Given the description of an element on the screen output the (x, y) to click on. 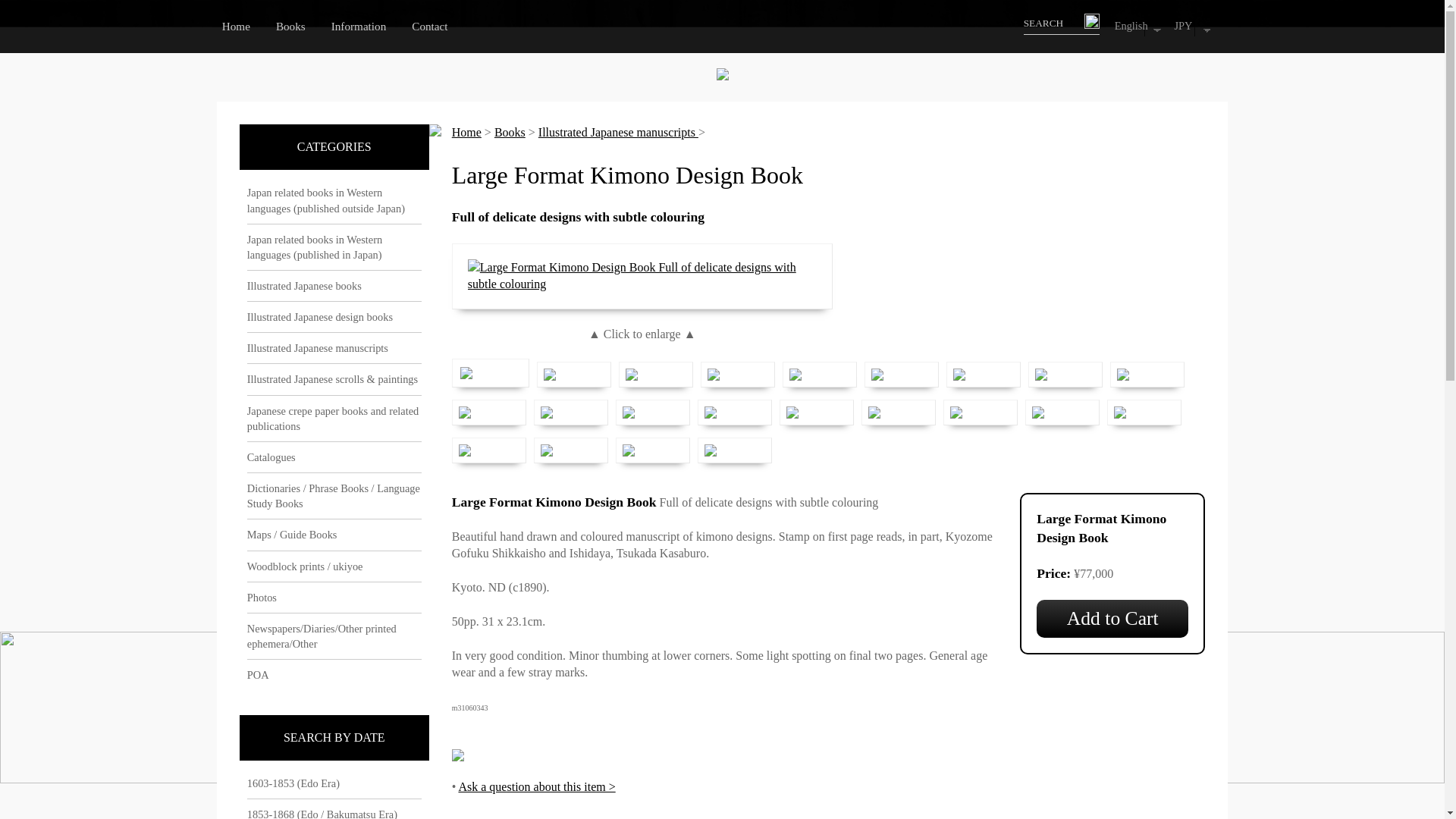
Illustrated Japanese manuscripts (334, 347)
Home (247, 25)
Information (370, 25)
Books (302, 25)
Illustrated Japanese design books (334, 316)
Japanese crepe paper books and related publications (334, 417)
Illustrated Japanese books (334, 285)
Add to Cart (1112, 618)
Catalogues (334, 456)
Contact (441, 25)
